Given the description of an element on the screen output the (x, y) to click on. 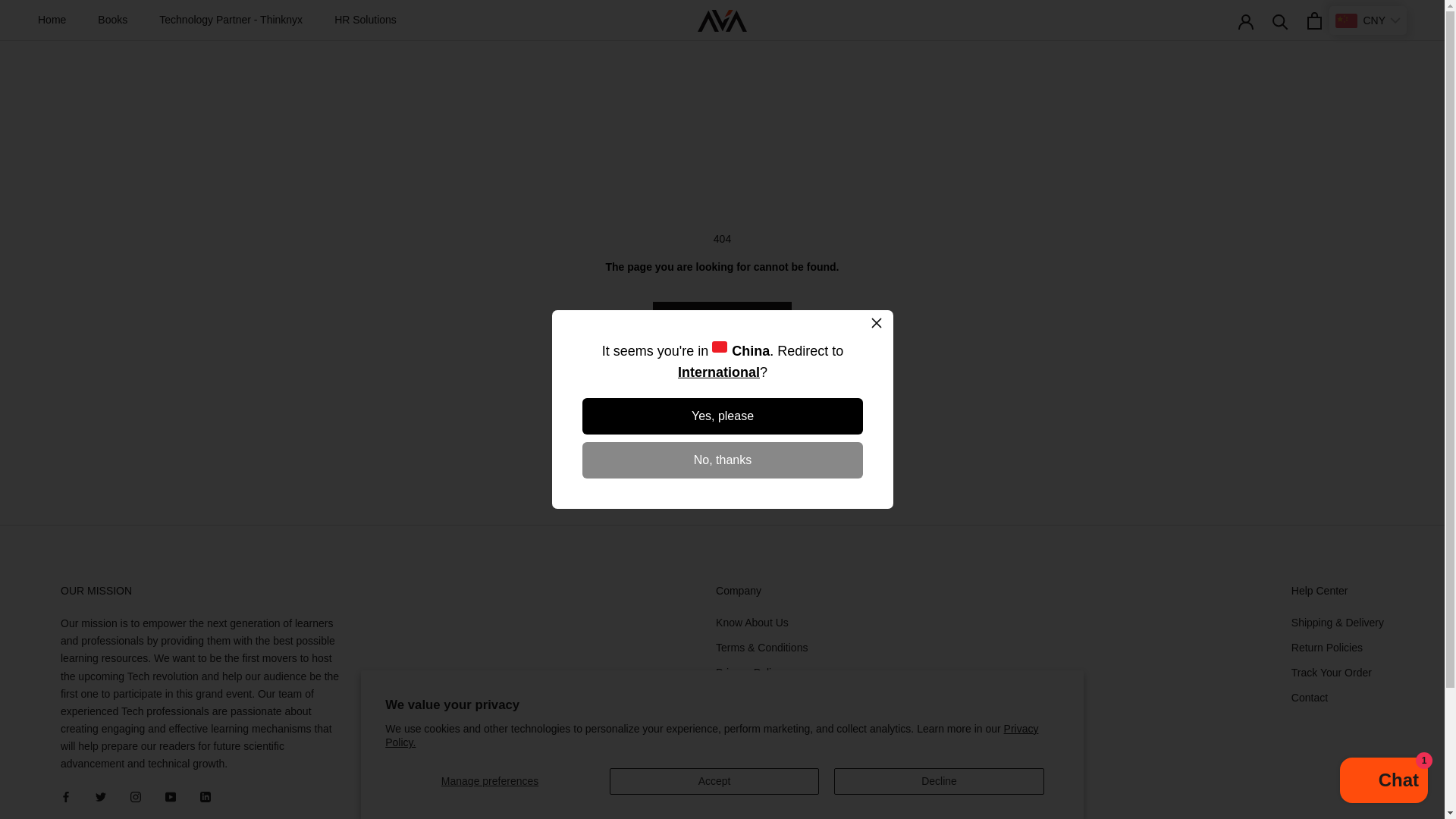
Shopify online store chat (1383, 781)
Yes, please (722, 416)
Manage preferences (489, 781)
International (717, 372)
No, thanks (722, 460)
Decline (938, 781)
Privacy Policy. (711, 735)
Accept (714, 781)
